Given the description of an element on the screen output the (x, y) to click on. 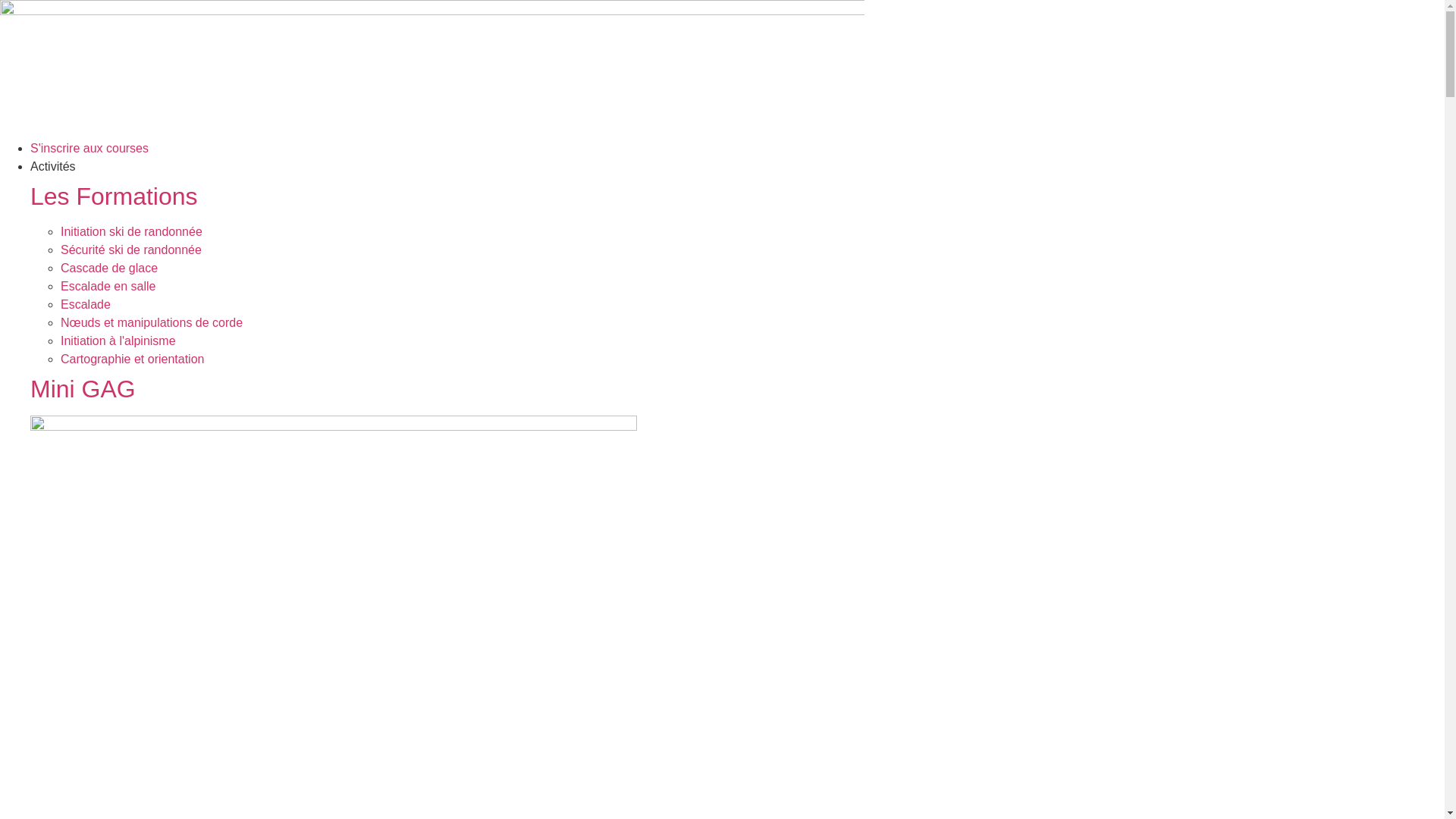
S'inscrire aux courses Element type: text (89, 147)
Aller au contenu Element type: text (0, 0)
Cartographie et orientation Element type: text (131, 358)
Escalade en salle Element type: text (107, 285)
Cascade de glace Element type: text (108, 267)
Les Formations Element type: text (113, 196)
Escalade Element type: text (85, 304)
Mini GAG Element type: text (82, 388)
